Given the description of an element on the screen output the (x, y) to click on. 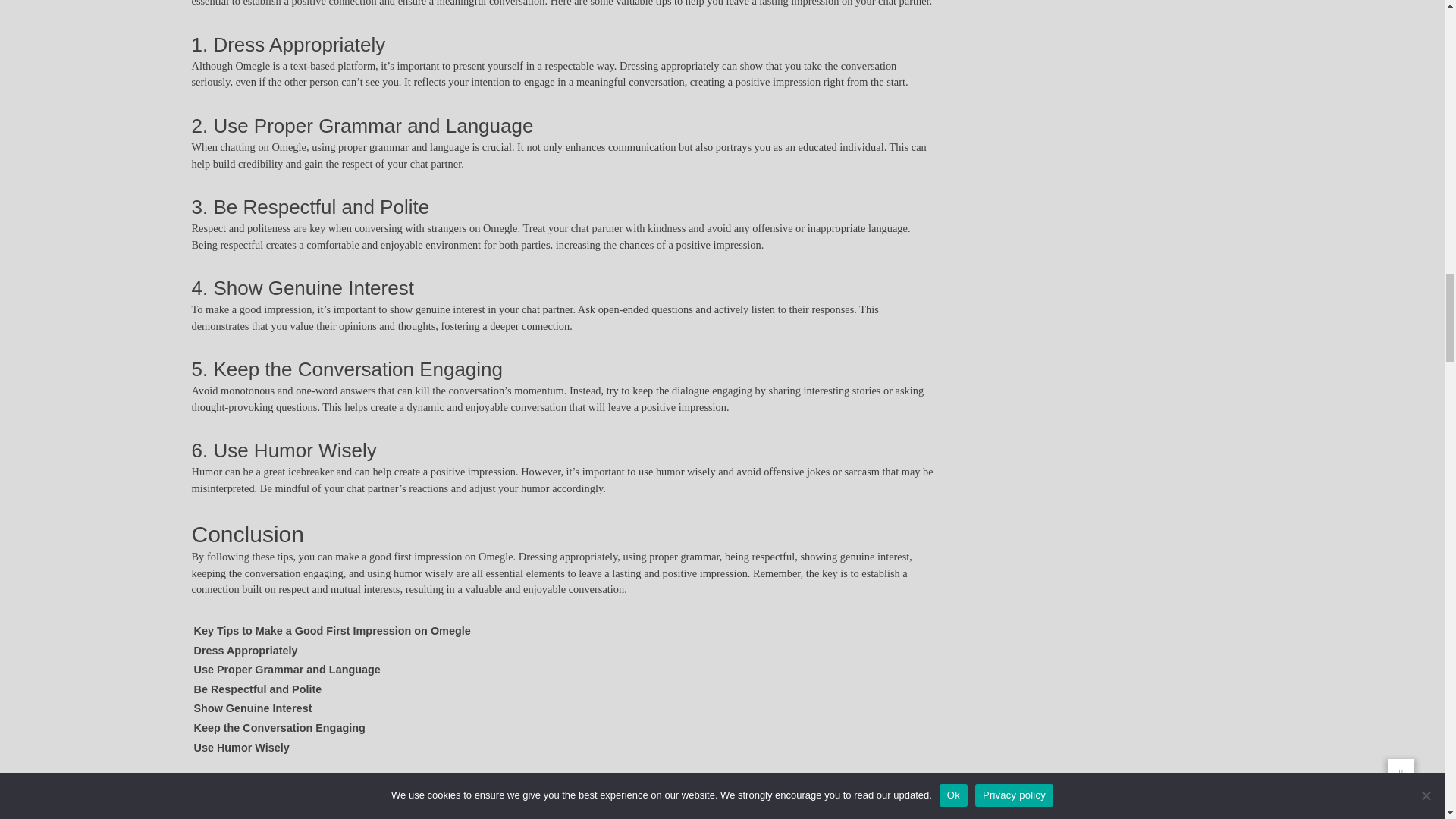
omeglecom (611, 782)
